Given the description of an element on the screen output the (x, y) to click on. 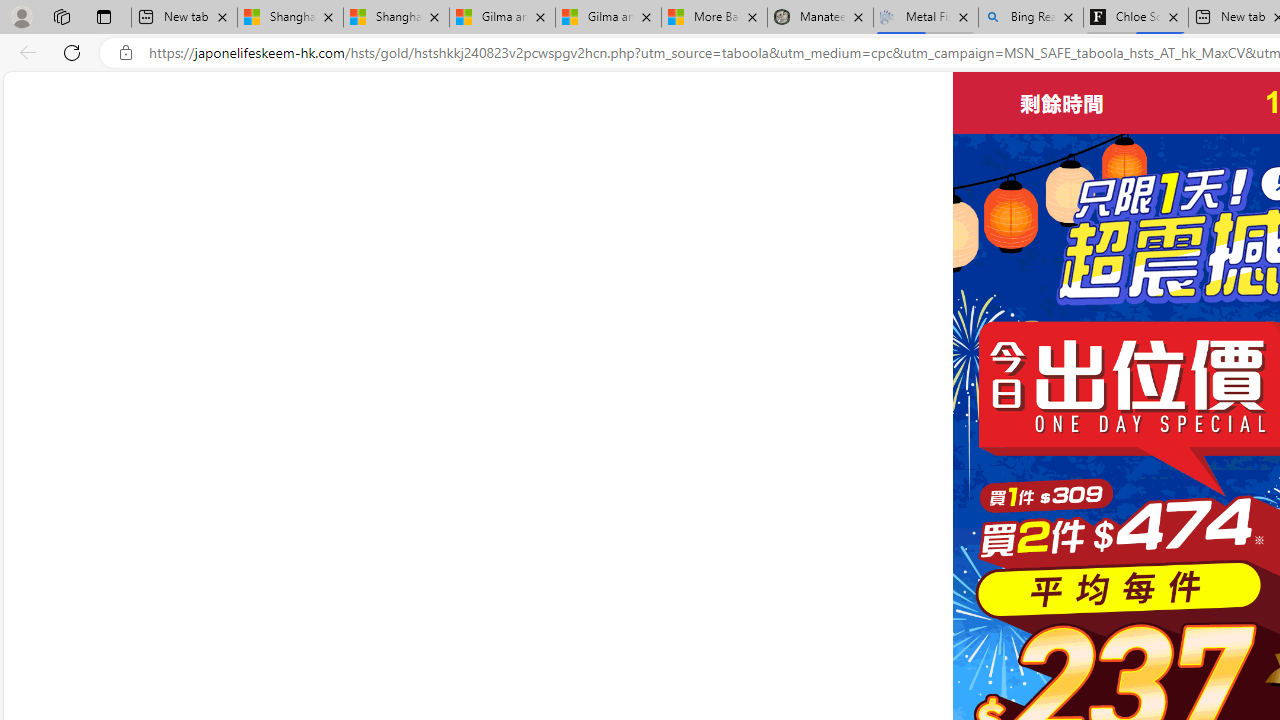
Chloe Sorvino (1135, 17)
Bing Real Estate - Home sales and rental listings (1030, 17)
Gilma and Hector both pose tropical trouble for Hawaii (607, 17)
Manatee Mortality Statistics | FWC (820, 17)
